Given the description of an element on the screen output the (x, y) to click on. 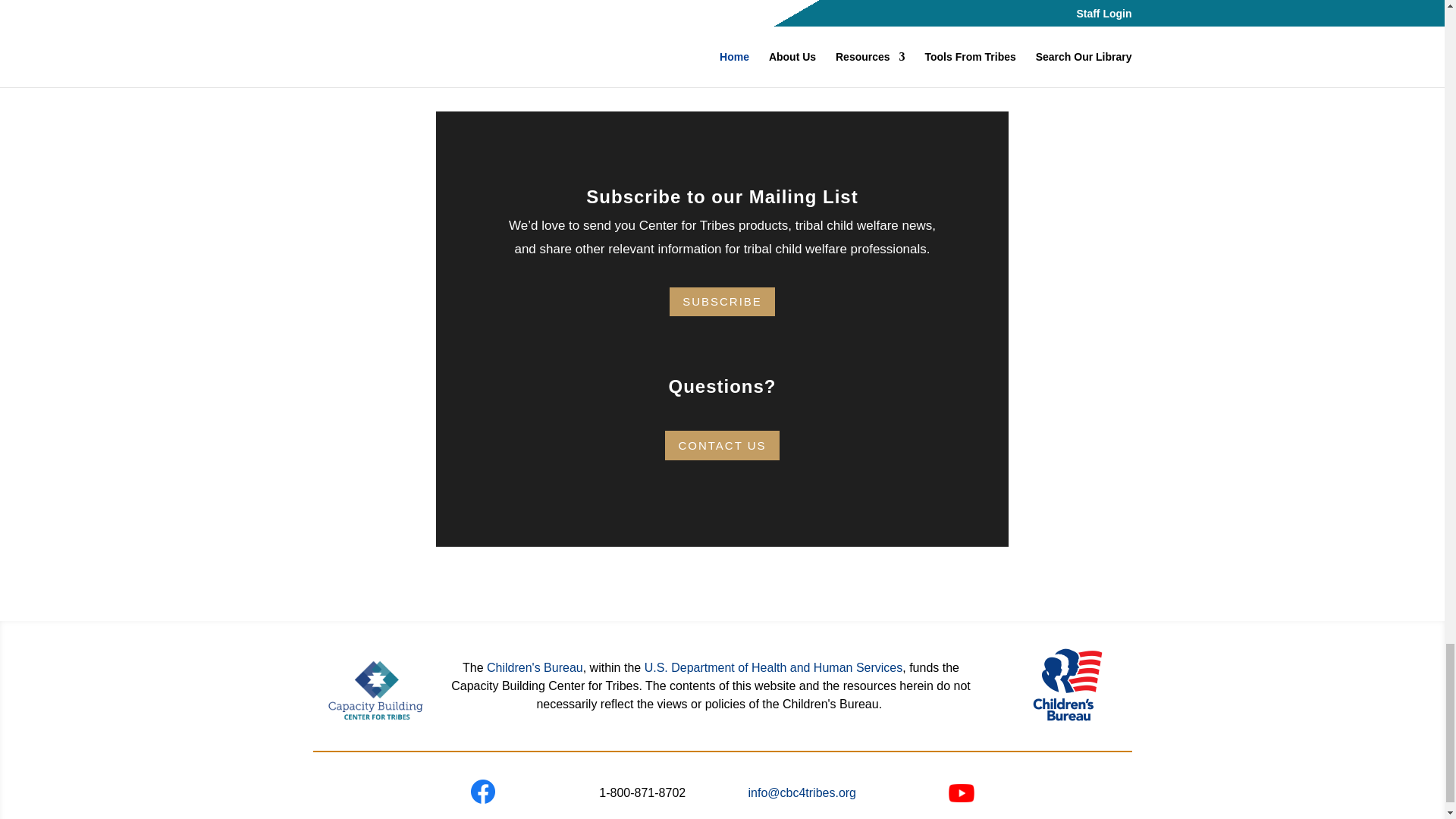
CBCTLOGO (376, 690)
acf-logo-icon-cb (1067, 684)
Facebook-logo-blue-circle-large-transparent-png (482, 791)
